Given the description of an element on the screen output the (x, y) to click on. 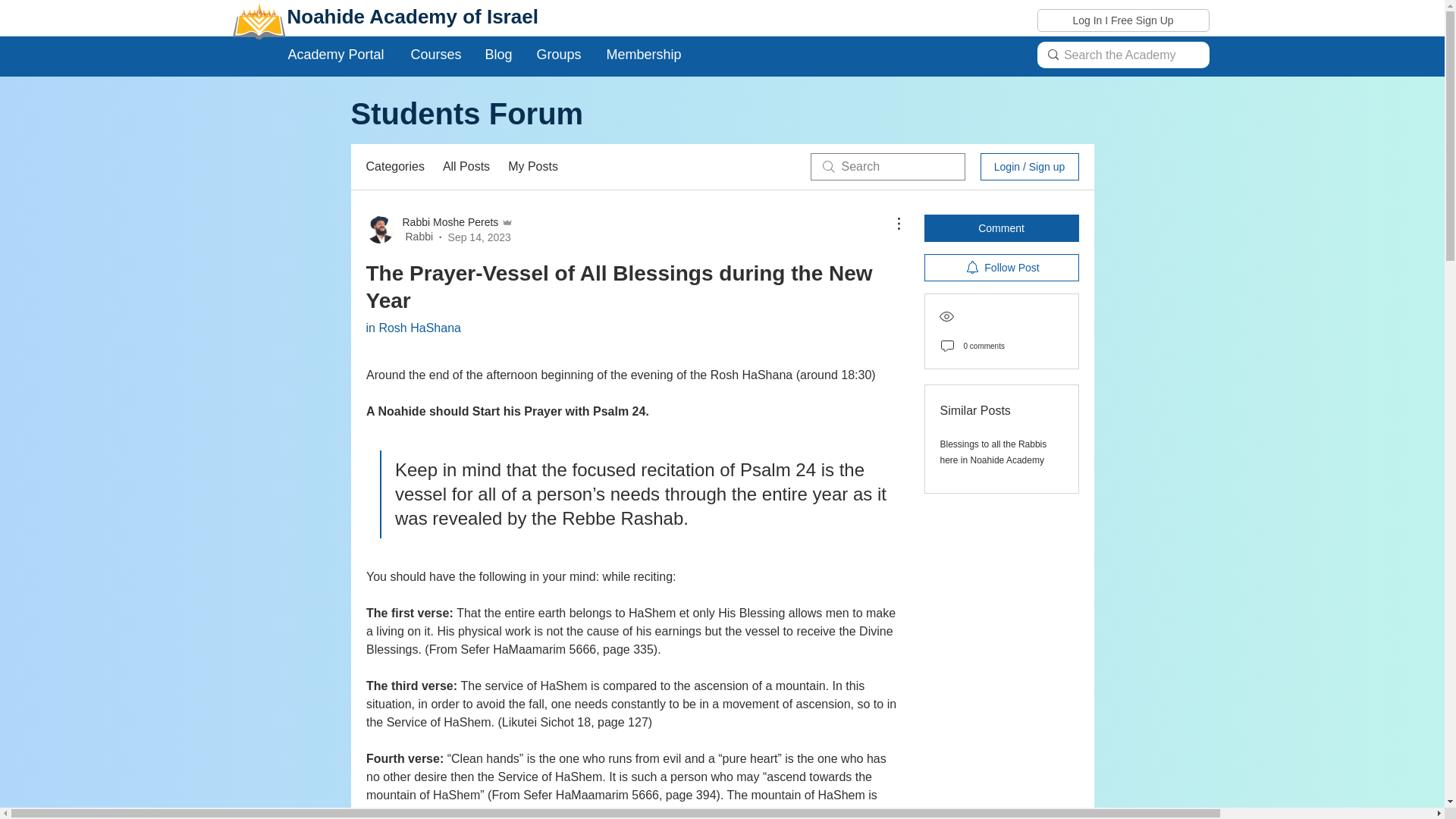
Membership (645, 54)
Noahide  (327, 15)
All Posts (465, 167)
Log In I Free Sign Up (1122, 20)
Categories (394, 167)
Academy of Israel (453, 15)
Courses (435, 54)
Groups (559, 54)
Blog (498, 54)
Academy Portal (337, 54)
